Given the description of an element on the screen output the (x, y) to click on. 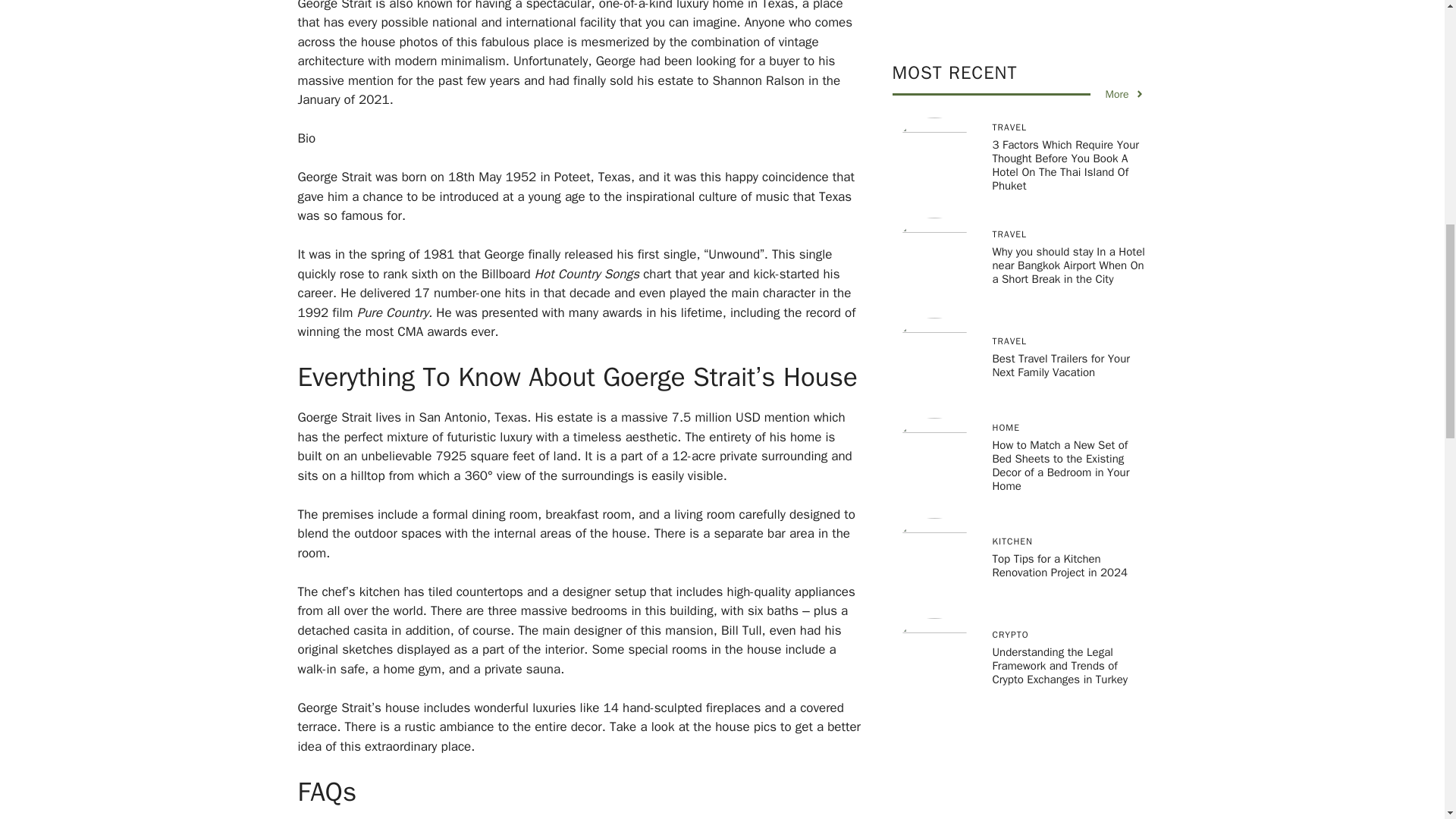
Top Tips for a Kitchen Renovation Project in 2024 (1058, 155)
